Given the description of an element on the screen output the (x, y) to click on. 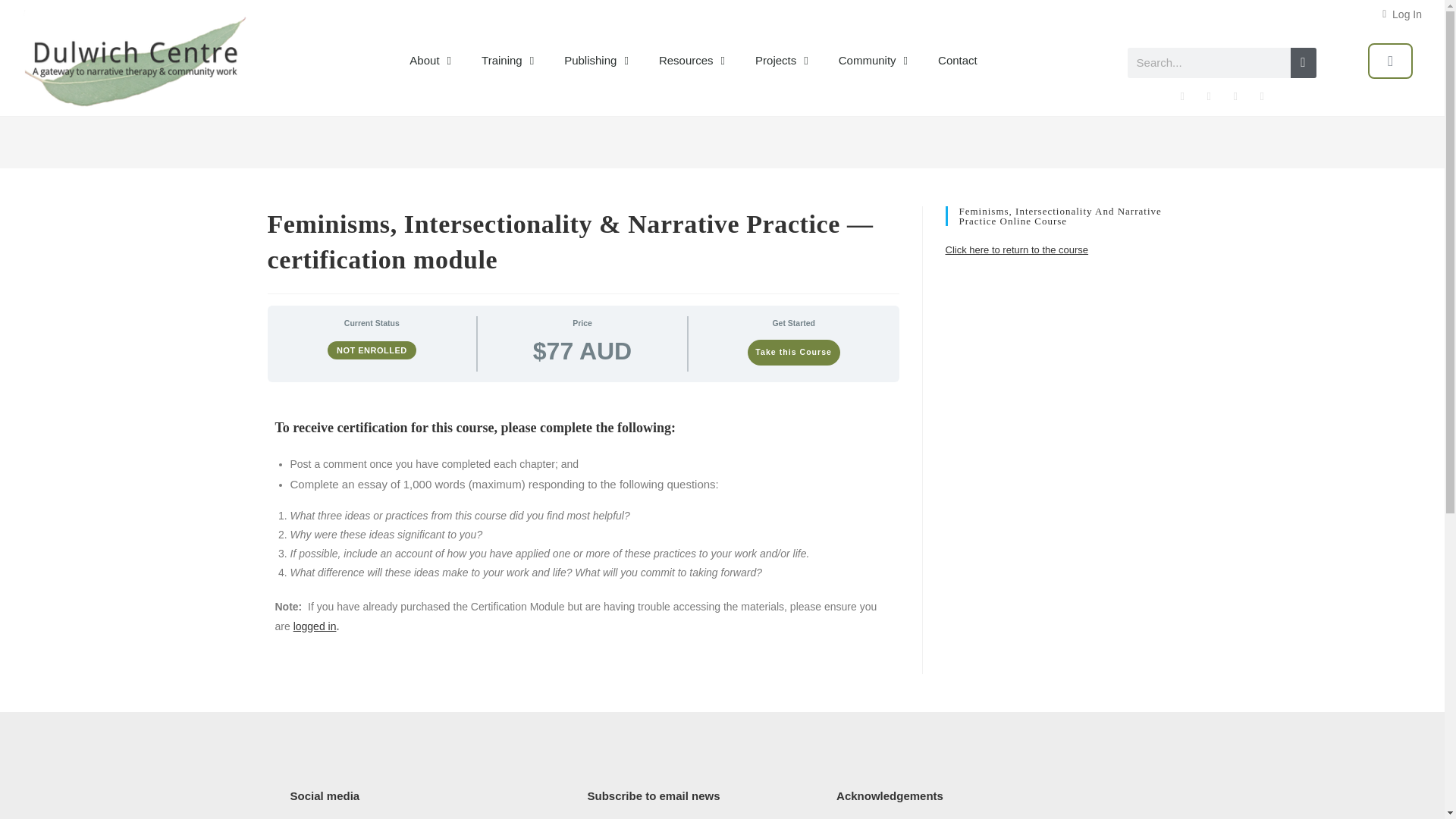
Projects (781, 60)
  Log In (1402, 15)
Training (506, 60)
About (429, 60)
Resources (691, 60)
Community (873, 60)
Publishing (595, 60)
Contact (957, 60)
